Given the description of an element on the screen output the (x, y) to click on. 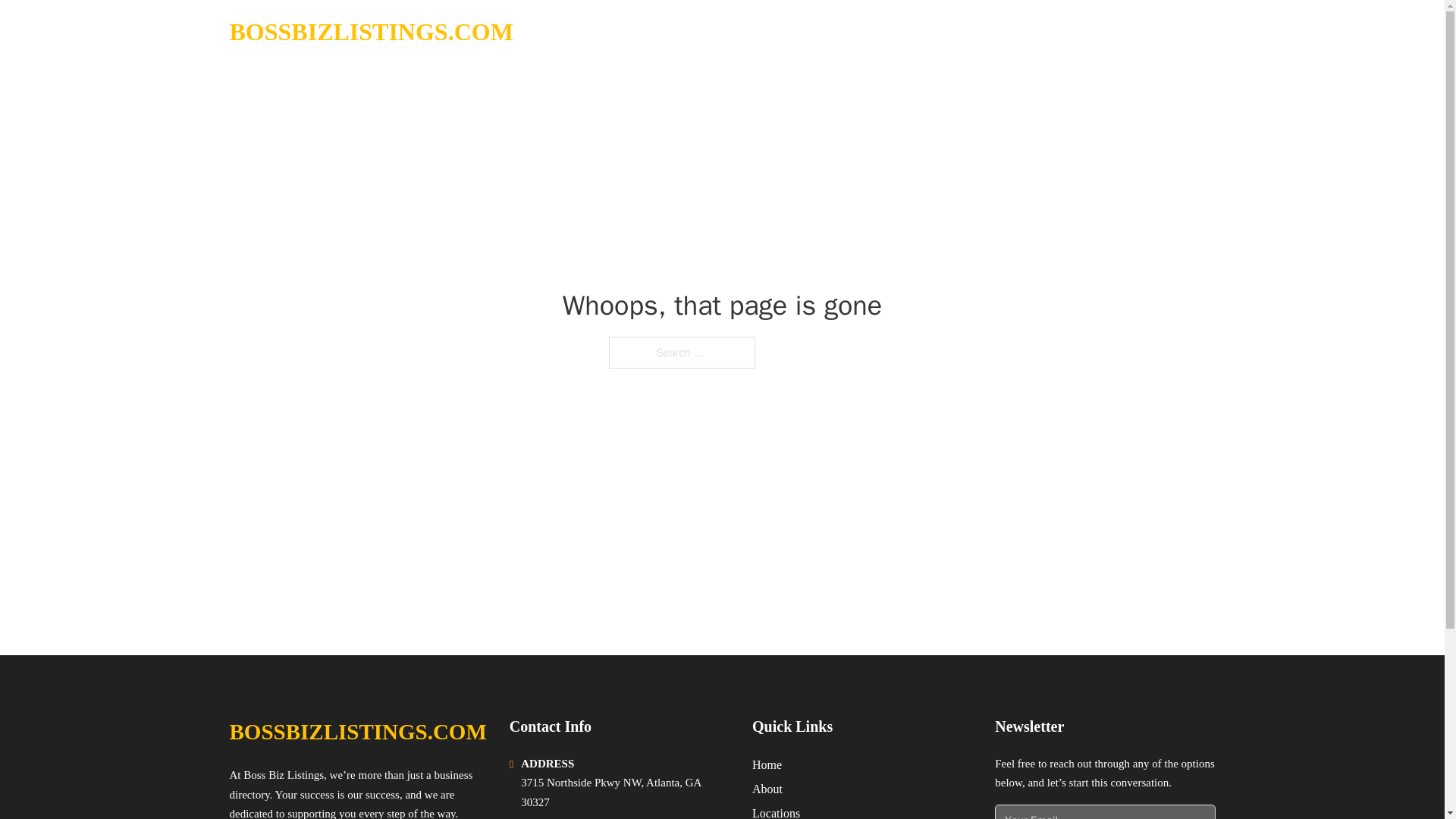
BOSSBIZLISTINGS.COM (370, 31)
HOME (1025, 31)
Home (766, 764)
LOCATIONS (1098, 31)
BOSSBIZLISTINGS.COM (357, 732)
Locations (775, 811)
About (767, 788)
